Given the description of an element on the screen output the (x, y) to click on. 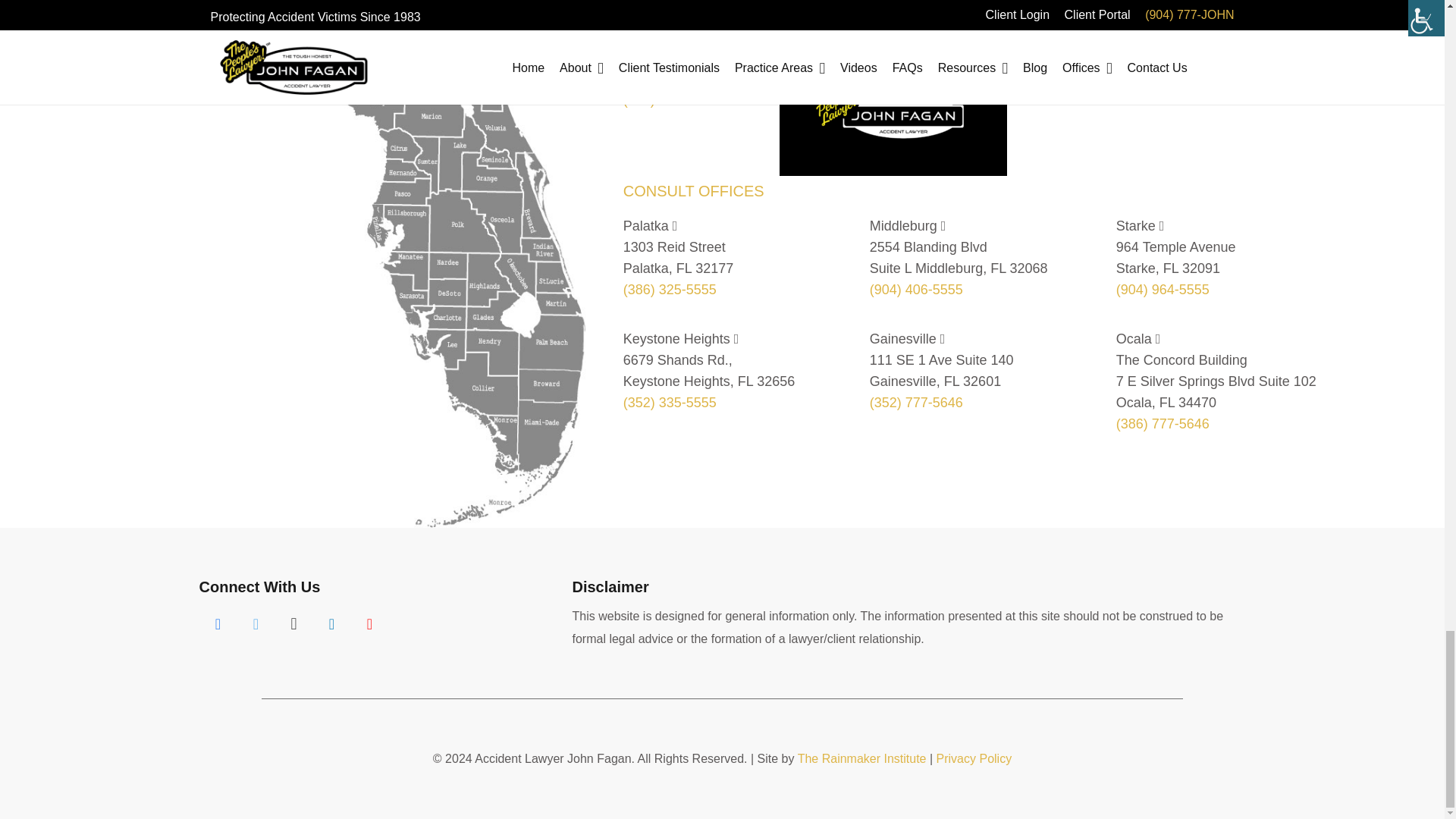
Twitter (255, 623)
YouTube (369, 623)
Facebook (216, 623)
LinkedIn (331, 623)
Instagram (294, 623)
